Given the description of an element on the screen output the (x, y) to click on. 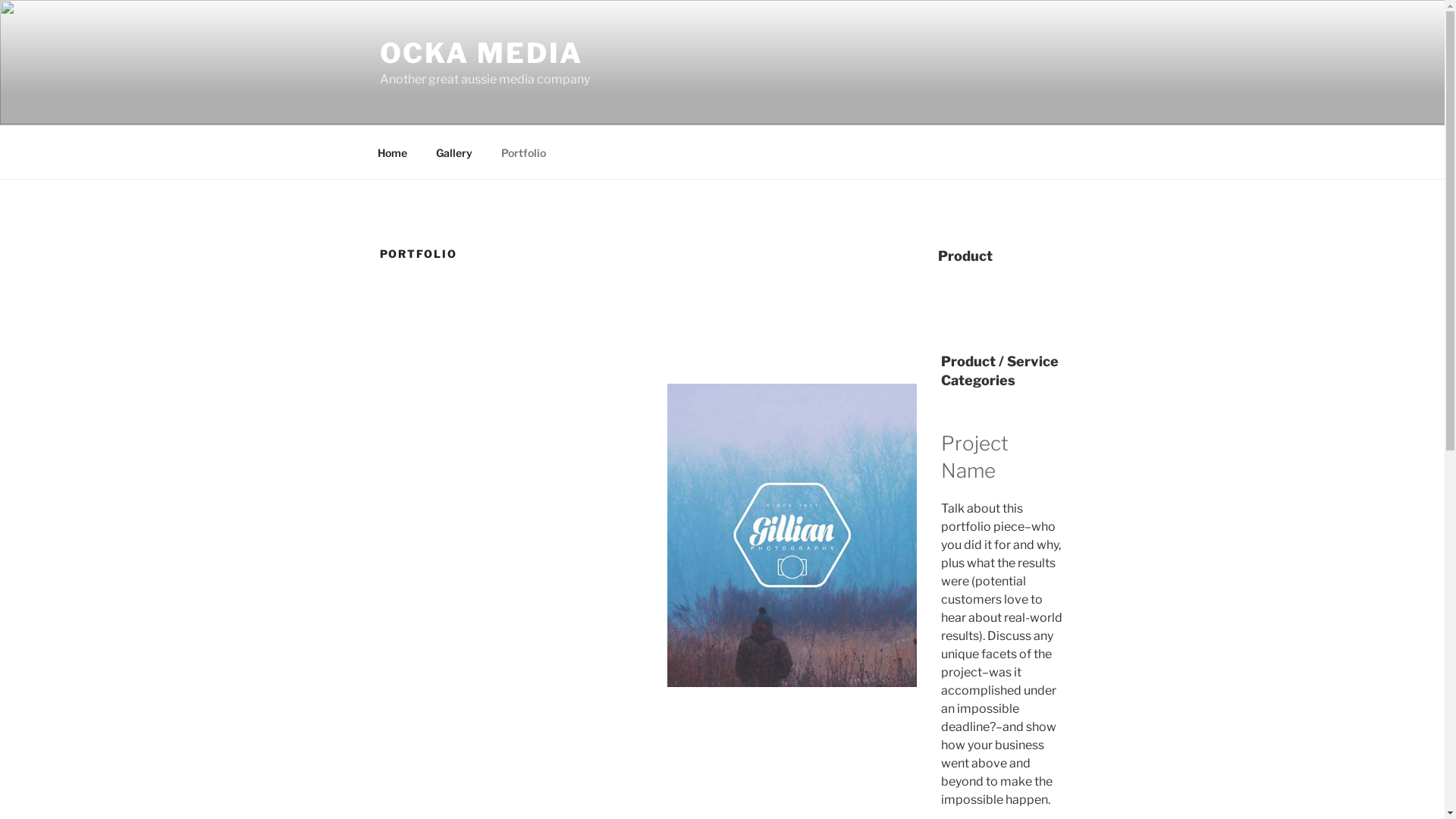
Gallery Element type: text (454, 151)
OCKA MEDIA Element type: text (481, 52)
Portfolio Element type: text (523, 151)
Home Element type: text (392, 151)
